Given the description of an element on the screen output the (x, y) to click on. 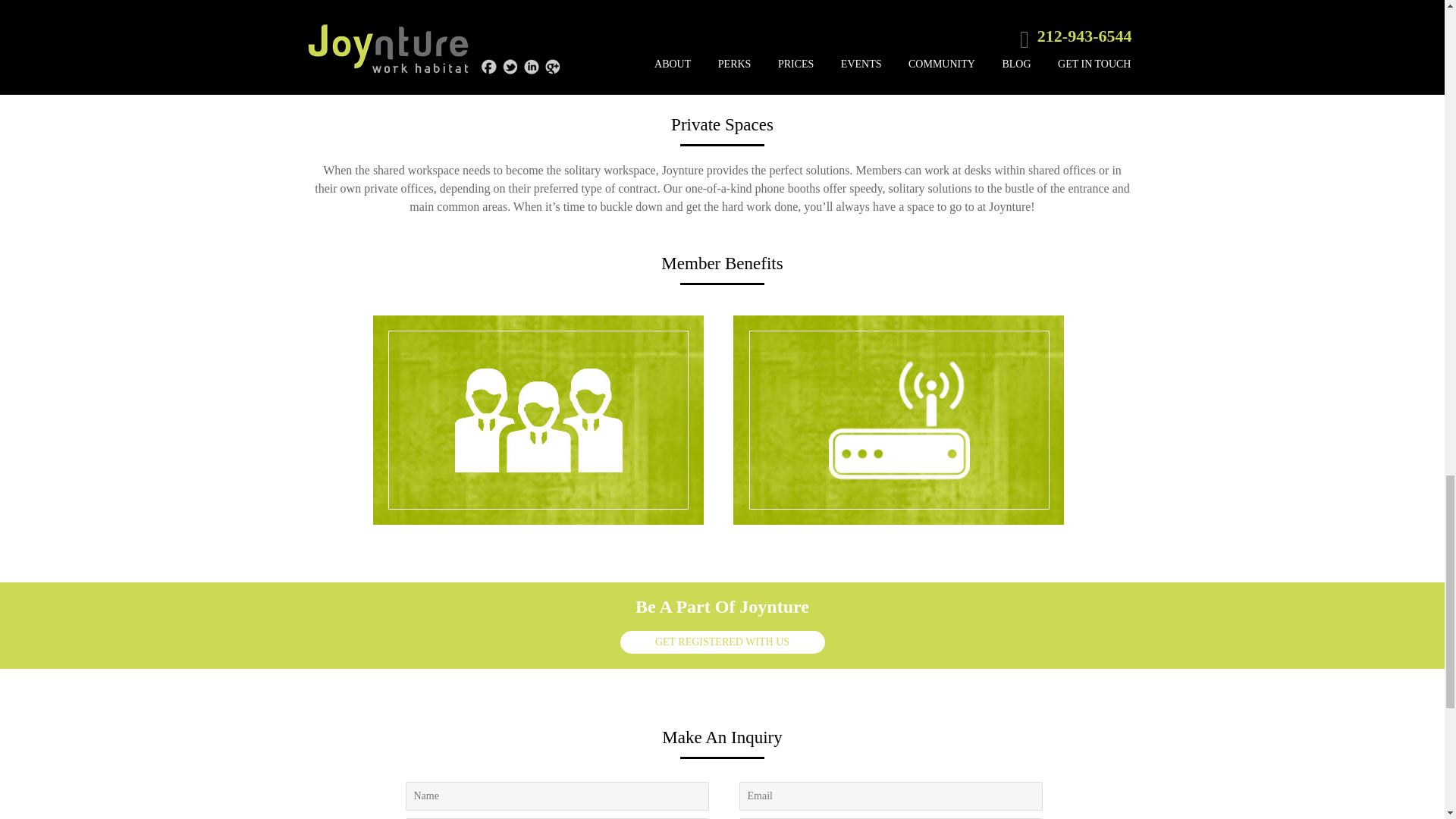
GET REGISTERED WITH US (722, 641)
